Given the description of an element on the screen output the (x, y) to click on. 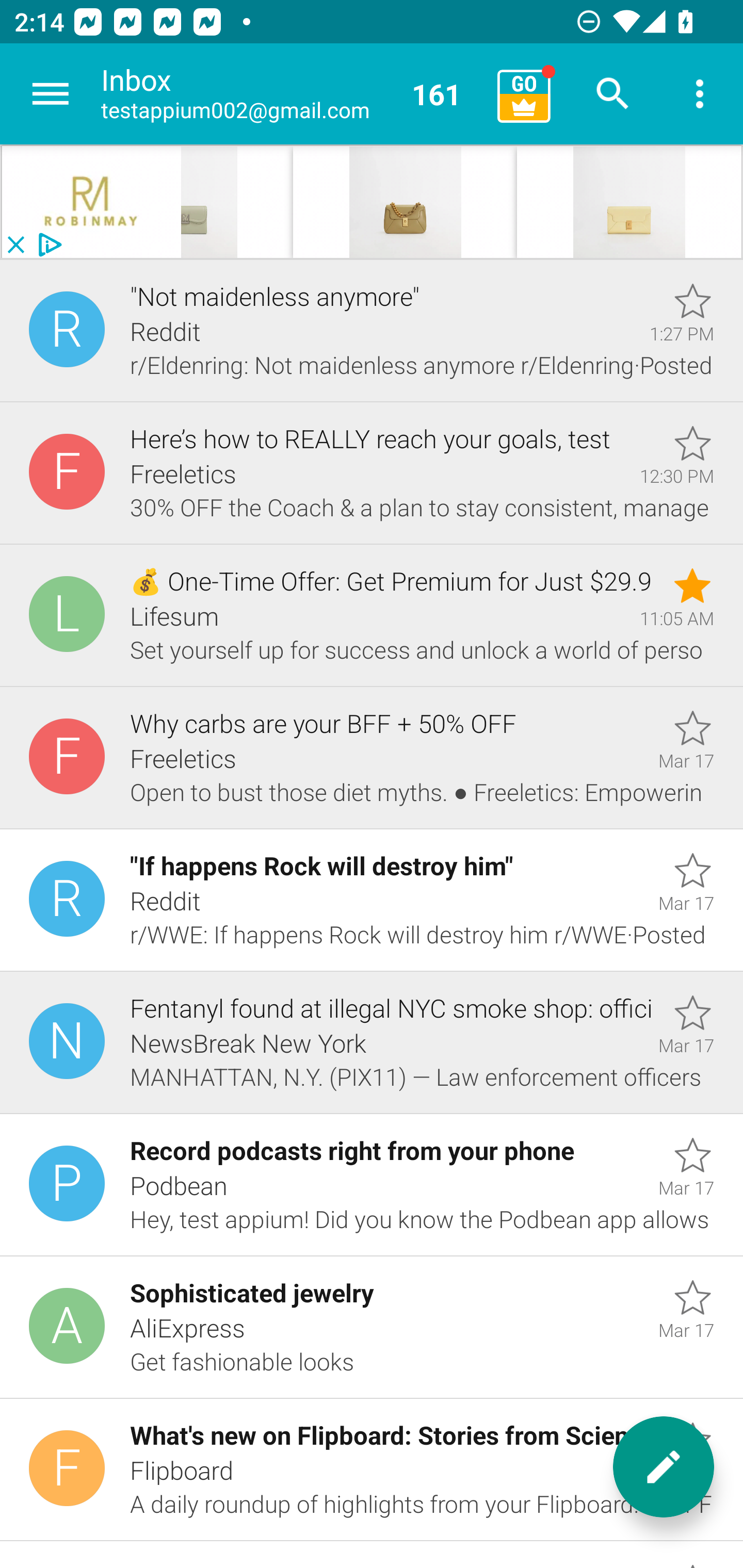
Navigate up (50, 93)
Inbox testappium002@gmail.com 161 (291, 93)
Search (612, 93)
More options (699, 93)
   (34, 202)
privacy_small close_button                (371, 202)
               (371, 202)
   (91, 202)
   (404, 202)
   (629, 202)
close_button (14, 245)
privacy_small (47, 245)
New message (663, 1466)
